Given the description of an element on the screen output the (x, y) to click on. 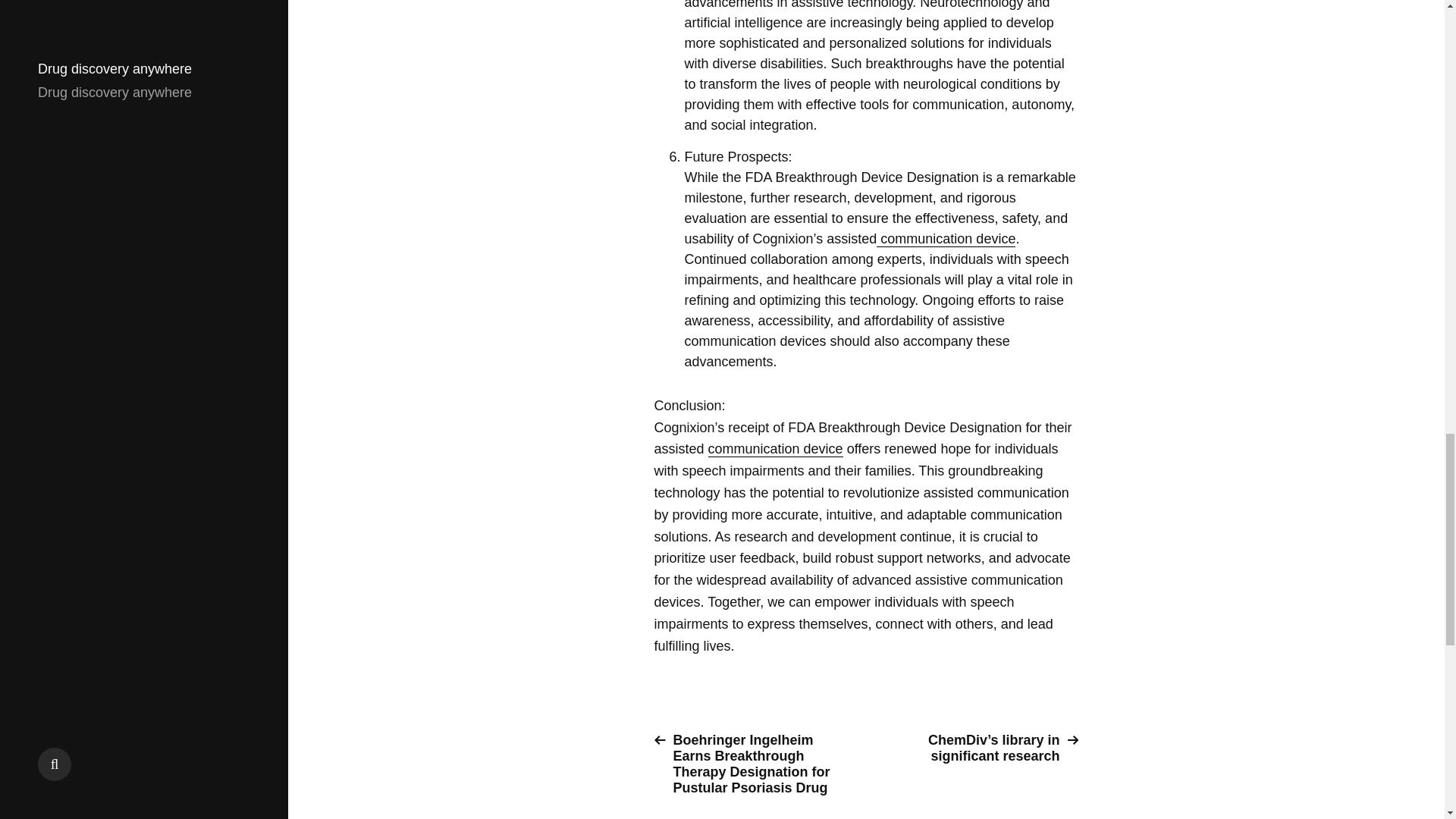
communication device (945, 238)
communication device (775, 449)
